Given the description of an element on the screen output the (x, y) to click on. 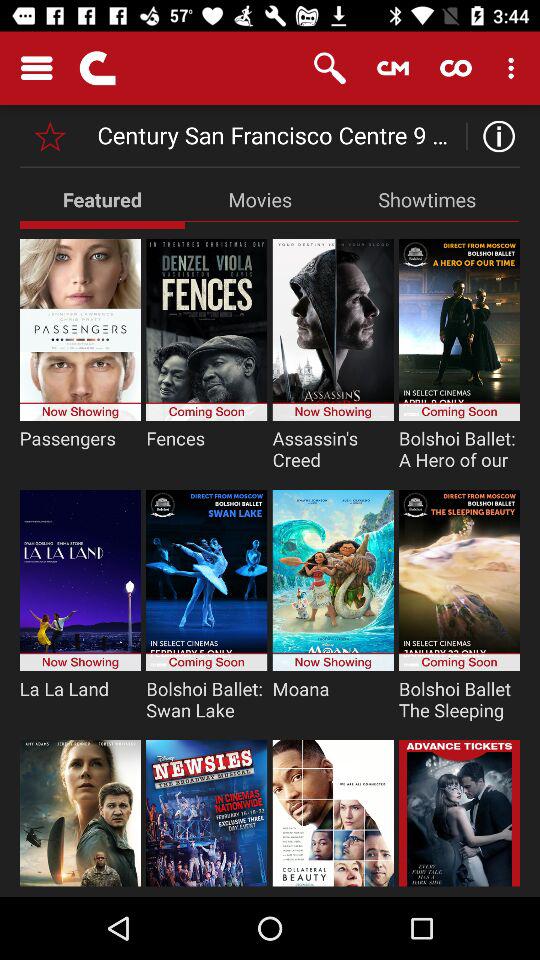
set priority option (49, 136)
